Given the description of an element on the screen output the (x, y) to click on. 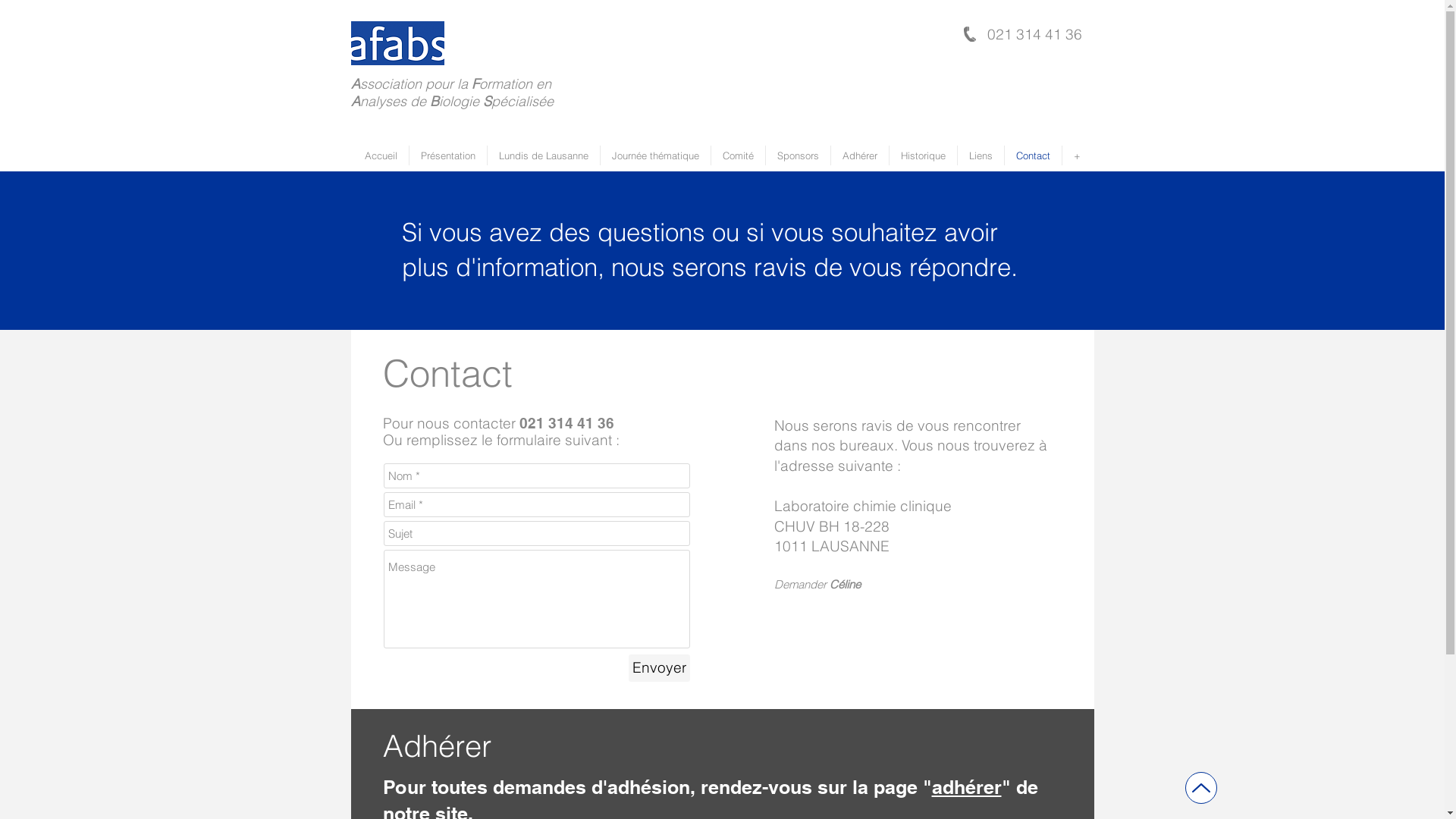
Liens Element type: text (980, 155)
Accueil Element type: text (380, 155)
Sponsors Element type: text (797, 155)
Historique Element type: text (922, 155)
logo_AFABS.png Element type: hover (396, 43)
Contact Element type: text (1032, 155)
Envoyer Element type: text (658, 667)
Lundis de Lausanne Element type: text (542, 155)
